Given the description of an element on the screen output the (x, y) to click on. 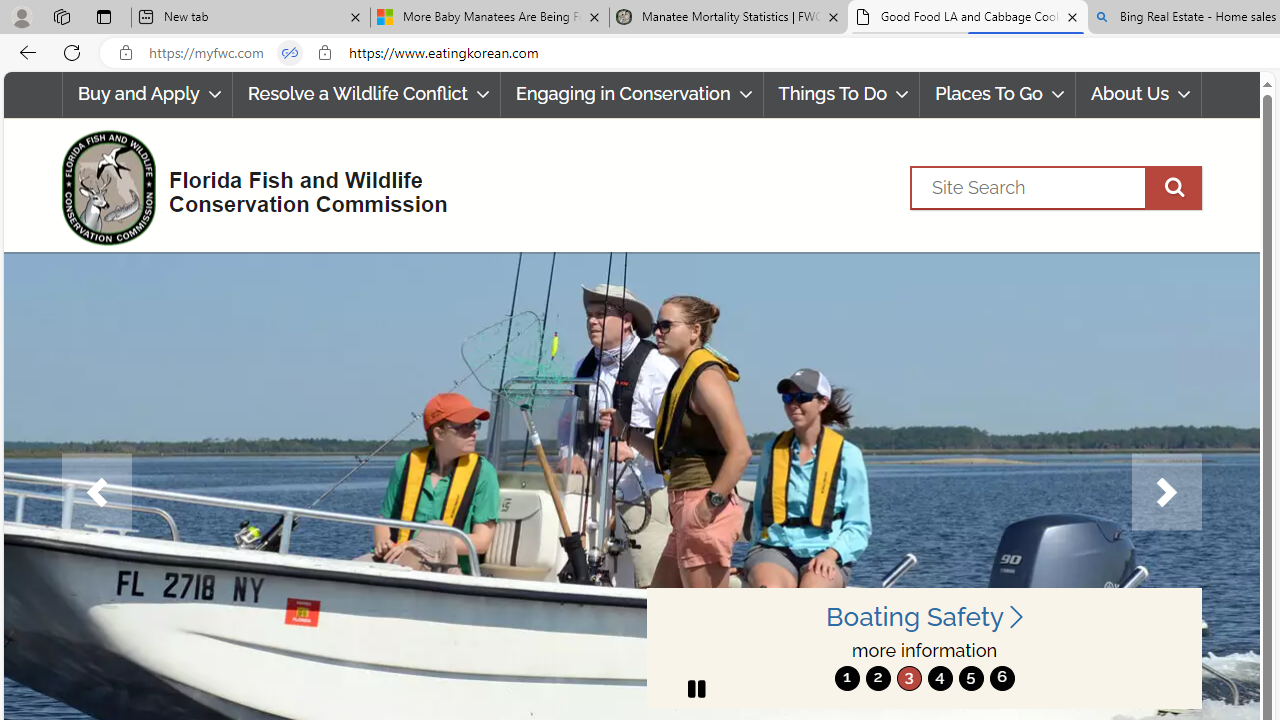
Engaging in Conservation (632, 94)
Next (1166, 491)
Places To Go (998, 94)
Manatee Mortality Statistics | FWC (729, 17)
Things To Do (841, 94)
move to slide 1 (847, 678)
Engaging in Conservation (631, 94)
move to slide 2 (877, 678)
Boating Safety  (923, 616)
Buy and Apply (146, 94)
execute site search (1173, 187)
1 (847, 678)
2 (877, 678)
About Us (1139, 94)
